Given the description of an element on the screen output the (x, y) to click on. 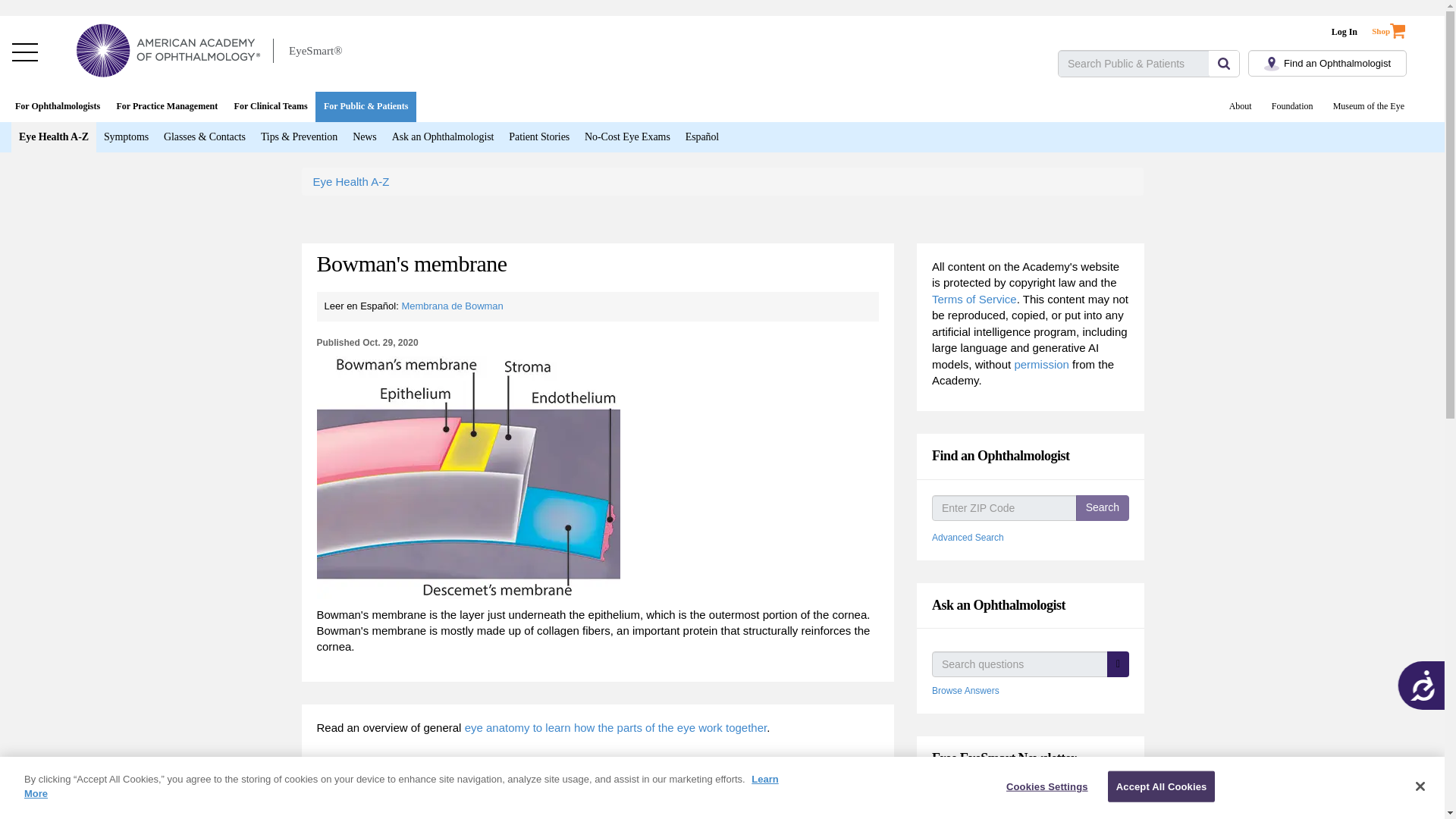
Foundation (1292, 106)
About (1240, 106)
For Ophthalmologists (57, 106)
Museum of the Eye (1368, 106)
Shop (1397, 27)
For Practice Management (166, 106)
Corneal layers with Bowman's membrane (468, 477)
Log In (1344, 31)
For Clinical Teams (270, 106)
